Given the description of an element on the screen output the (x, y) to click on. 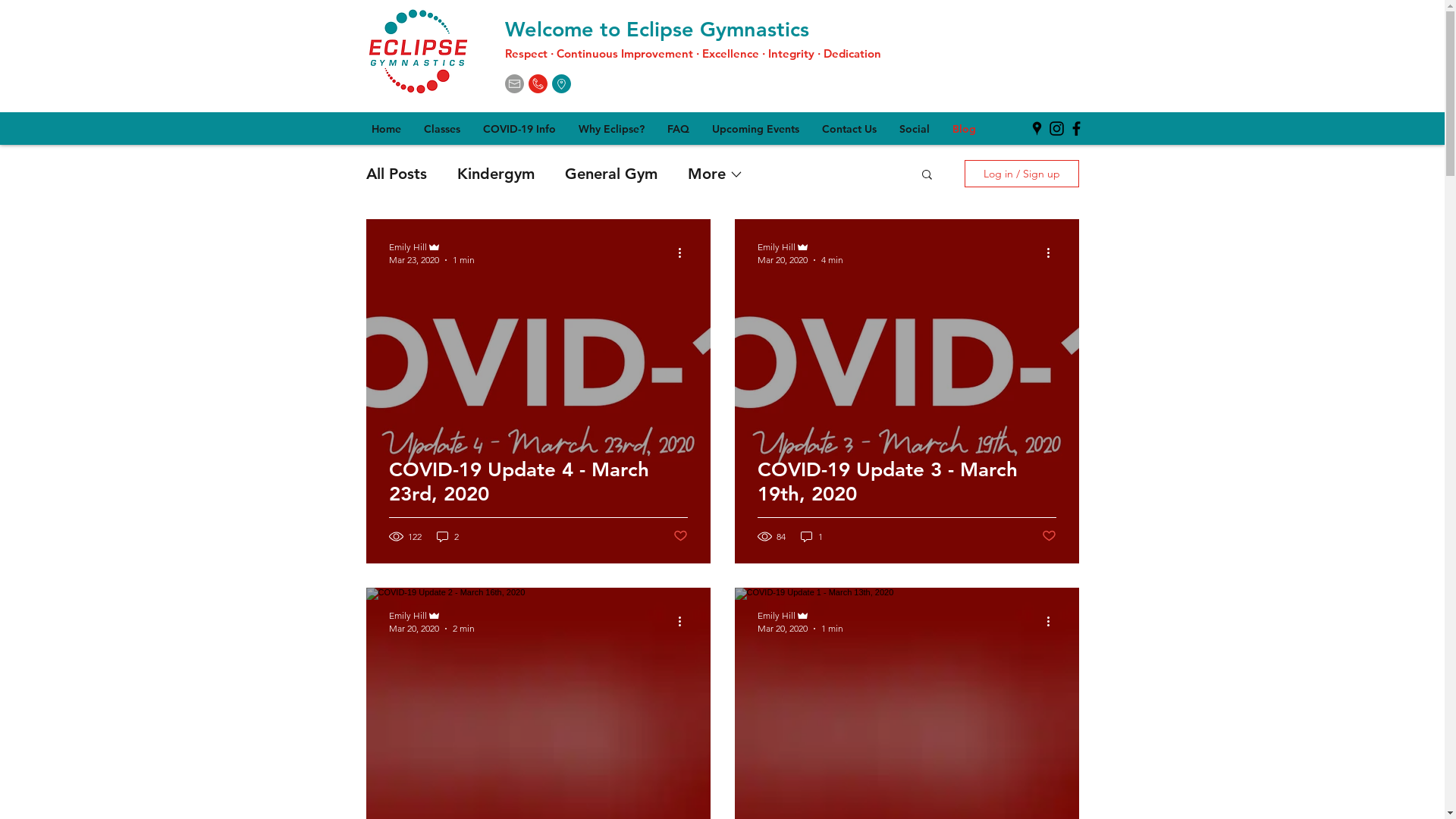
2 Element type: text (447, 536)
Social Element type: text (913, 127)
Home Element type: text (385, 127)
COVID-19 Update 3 - March 19th, 2020 Element type: text (905, 499)
Post not marked as liked Element type: text (1048, 535)
Log in / Sign up Element type: text (1021, 173)
Upcoming Events Element type: text (755, 127)
Blog Element type: text (963, 127)
Contact Us Element type: text (848, 127)
1 Element type: text (811, 536)
COVID-19 Info Element type: text (519, 127)
COVID-19 Update 4 - March 23rd, 2020 Element type: text (537, 499)
All Posts Element type: text (395, 173)
Post not marked as liked Element type: text (680, 535)
General Gym Element type: text (610, 173)
Kindergym Element type: text (494, 173)
Classes Element type: text (441, 127)
FAQ Element type: text (677, 127)
Why Eclipse? Element type: text (611, 127)
